Given the description of an element on the screen output the (x, y) to click on. 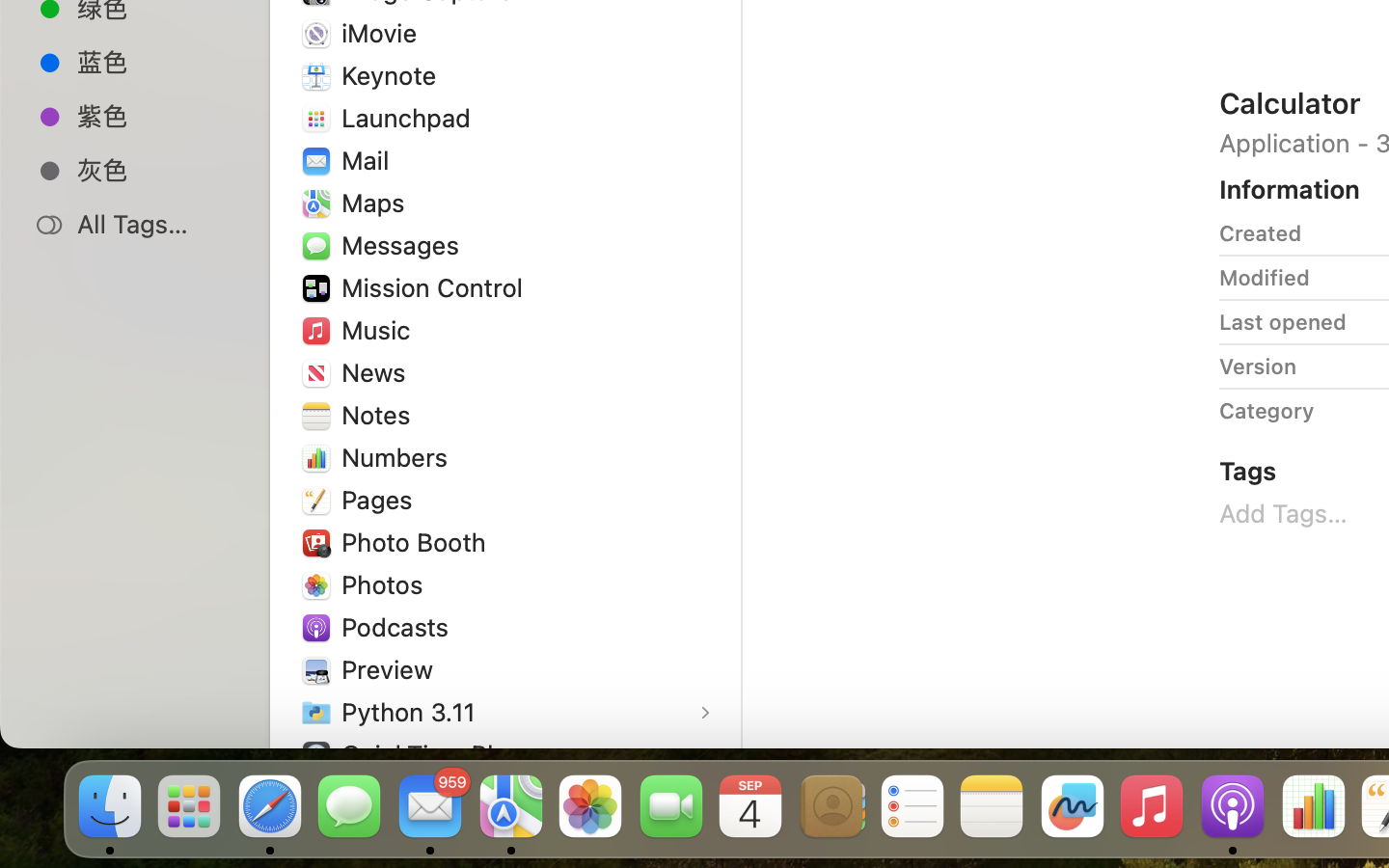
Launchpad Element type: AXTextField (410, 117)
All Tags… Element type: AXStaticText (155, 223)
Last opened Element type: AXStaticText (1282, 321)
Version Element type: AXStaticText (1257, 365)
Photos Element type: AXTextField (386, 584)
